Given the description of an element on the screen output the (x, y) to click on. 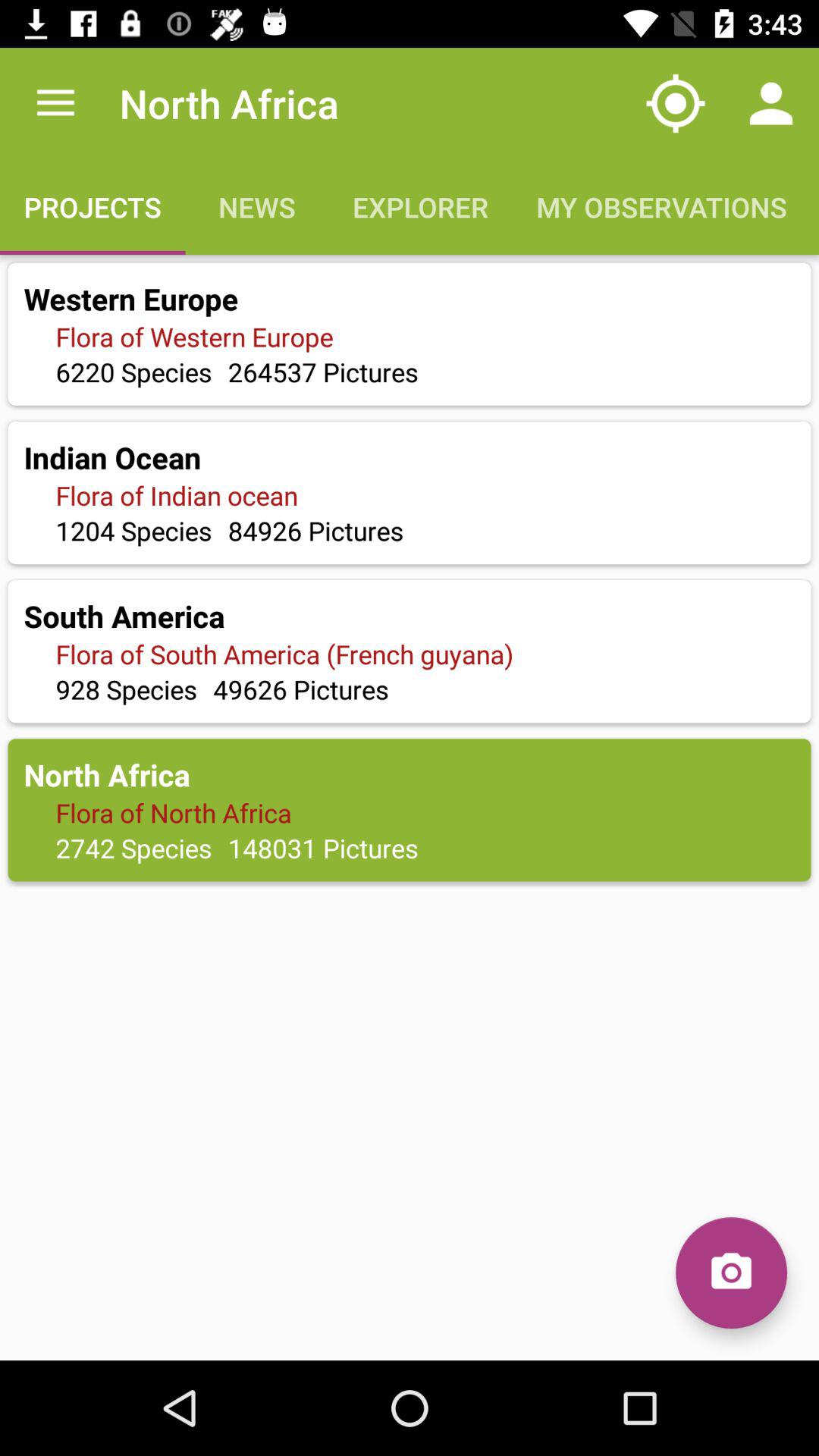
select the text news (257, 206)
